Given the description of an element on the screen output the (x, y) to click on. 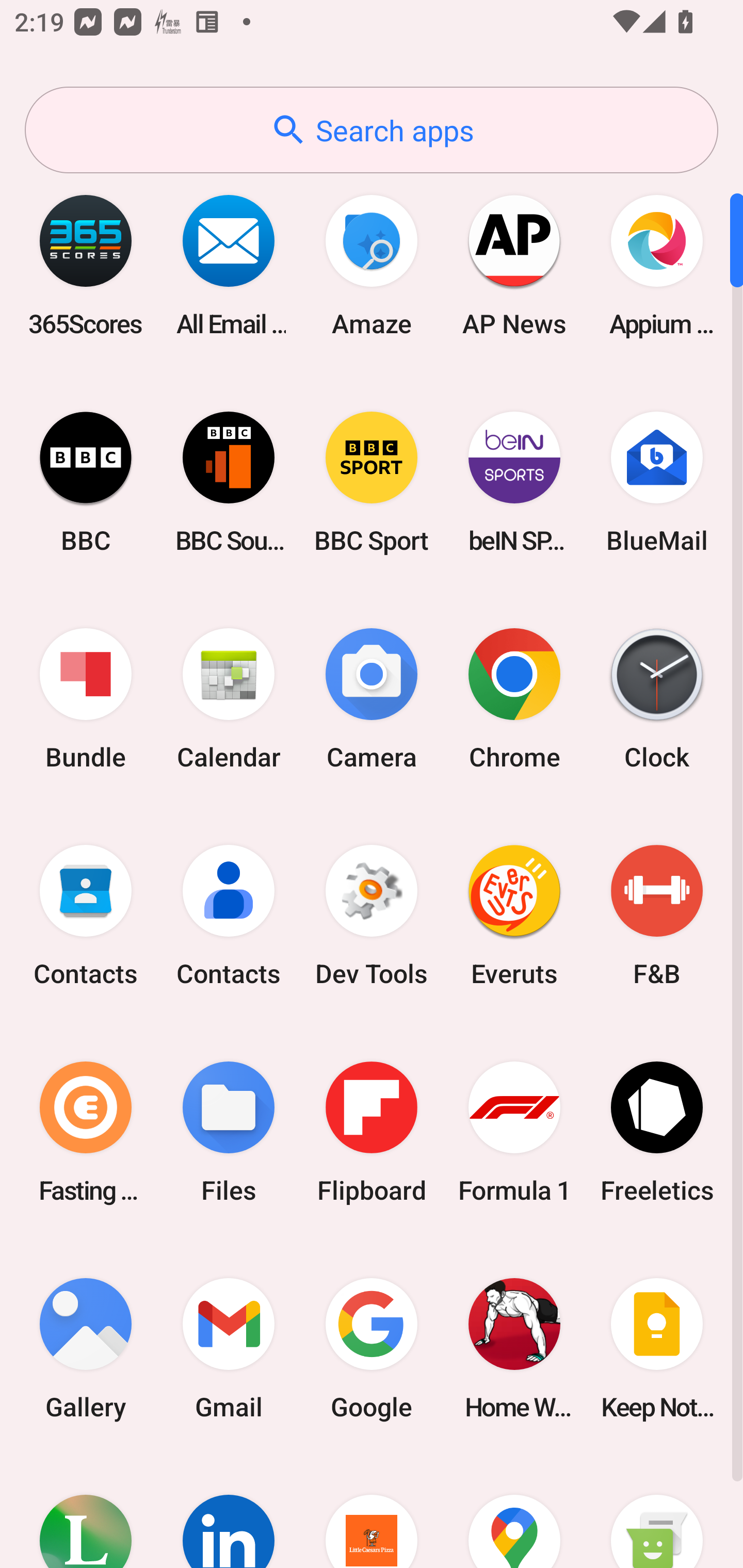
  Search apps (371, 130)
365Scores (85, 264)
All Email Connect (228, 264)
Amaze (371, 264)
AP News (514, 264)
Appium Settings (656, 264)
BBC (85, 482)
BBC Sounds (228, 482)
BBC Sport (371, 482)
beIN SPORTS (514, 482)
BlueMail (656, 482)
Bundle (85, 699)
Calendar (228, 699)
Camera (371, 699)
Chrome (514, 699)
Clock (656, 699)
Contacts (85, 915)
Contacts (228, 915)
Dev Tools (371, 915)
Everuts (514, 915)
F&B (656, 915)
Fasting Coach (85, 1131)
Files (228, 1131)
Flipboard (371, 1131)
Formula 1 (514, 1131)
Freeletics (656, 1131)
Gallery (85, 1348)
Gmail (228, 1348)
Google (371, 1348)
Home Workout (514, 1348)
Keep Notes (656, 1348)
Lifesum (85, 1512)
LinkedIn (228, 1512)
Little Caesars Pizza (371, 1512)
Maps (514, 1512)
Messaging (656, 1512)
